Given the description of an element on the screen output the (x, y) to click on. 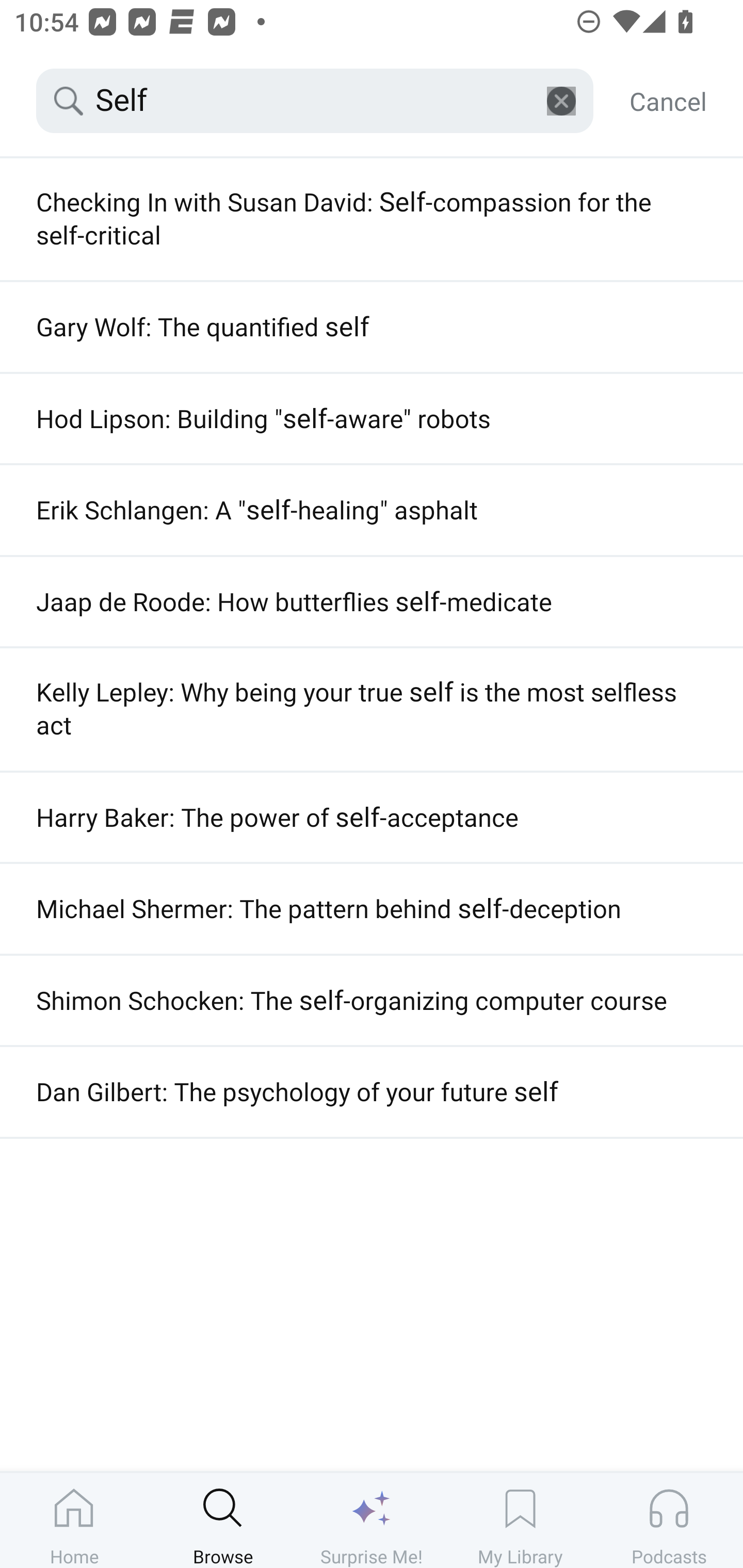
Self (314, 100)
Cancel (667, 100)
Gary Wolf: The quantified self (371, 326)
Hod Lipson: Building "self-aware" robots (371, 418)
Erik Schlangen: A "self-healing" asphalt (371, 510)
Jaap de Roode: How butterflies self-medicate (371, 601)
Harry Baker: The power of self-acceptance (371, 817)
Michael Shermer: The pattern behind self-deception (371, 908)
Dan Gilbert: The psychology of your future self (371, 1091)
Home (74, 1520)
Browse (222, 1520)
Surprise Me! (371, 1520)
My Library (519, 1520)
Podcasts (668, 1520)
